Given the description of an element on the screen output the (x, y) to click on. 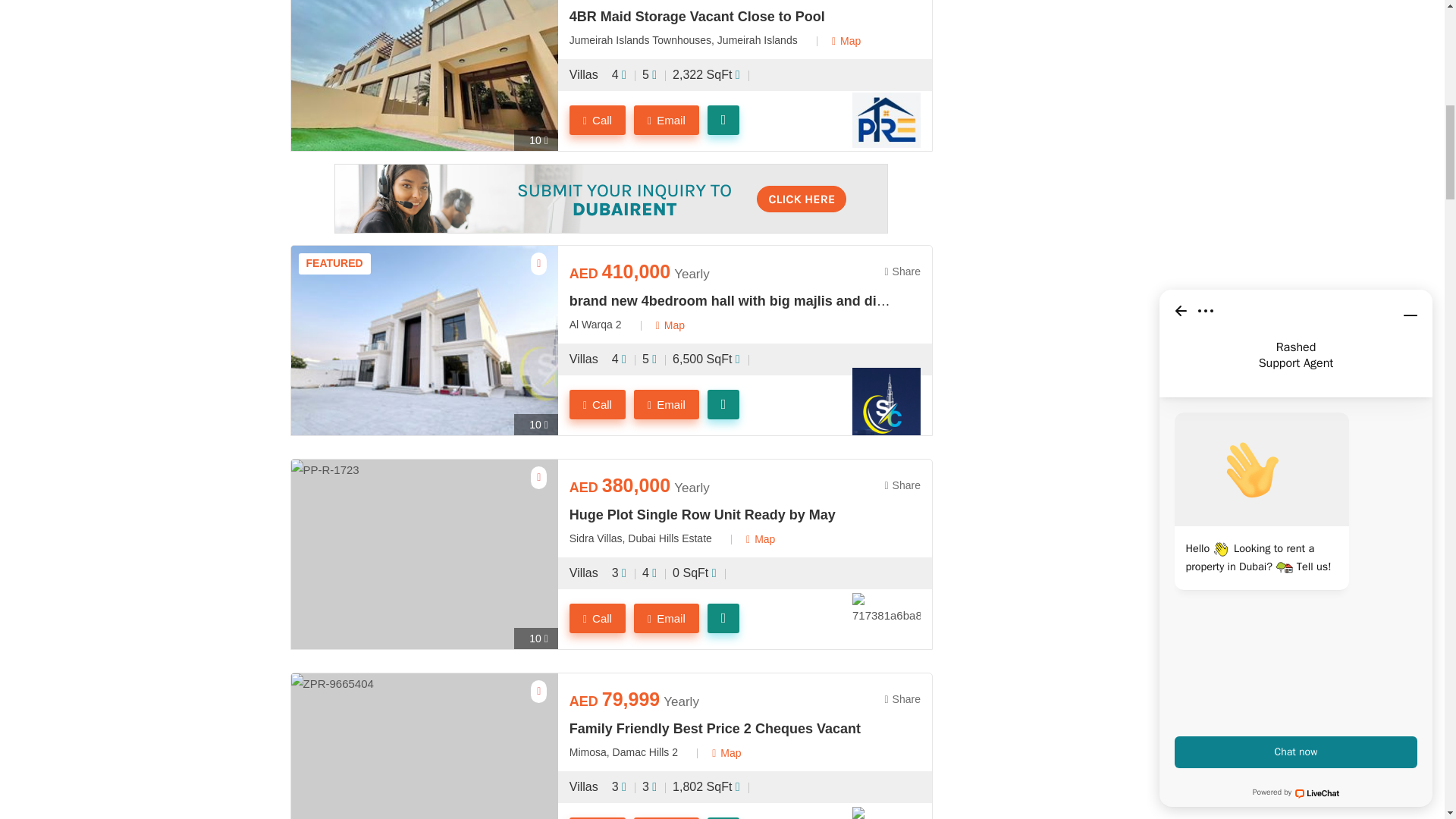
4BR Maid Storage Vacant Close to Pool (730, 17)
Built up area (694, 572)
Built up area (707, 359)
Built up area (707, 74)
Huge Plot Single Row Unit Ready by May (730, 515)
